Given the description of an element on the screen output the (x, y) to click on. 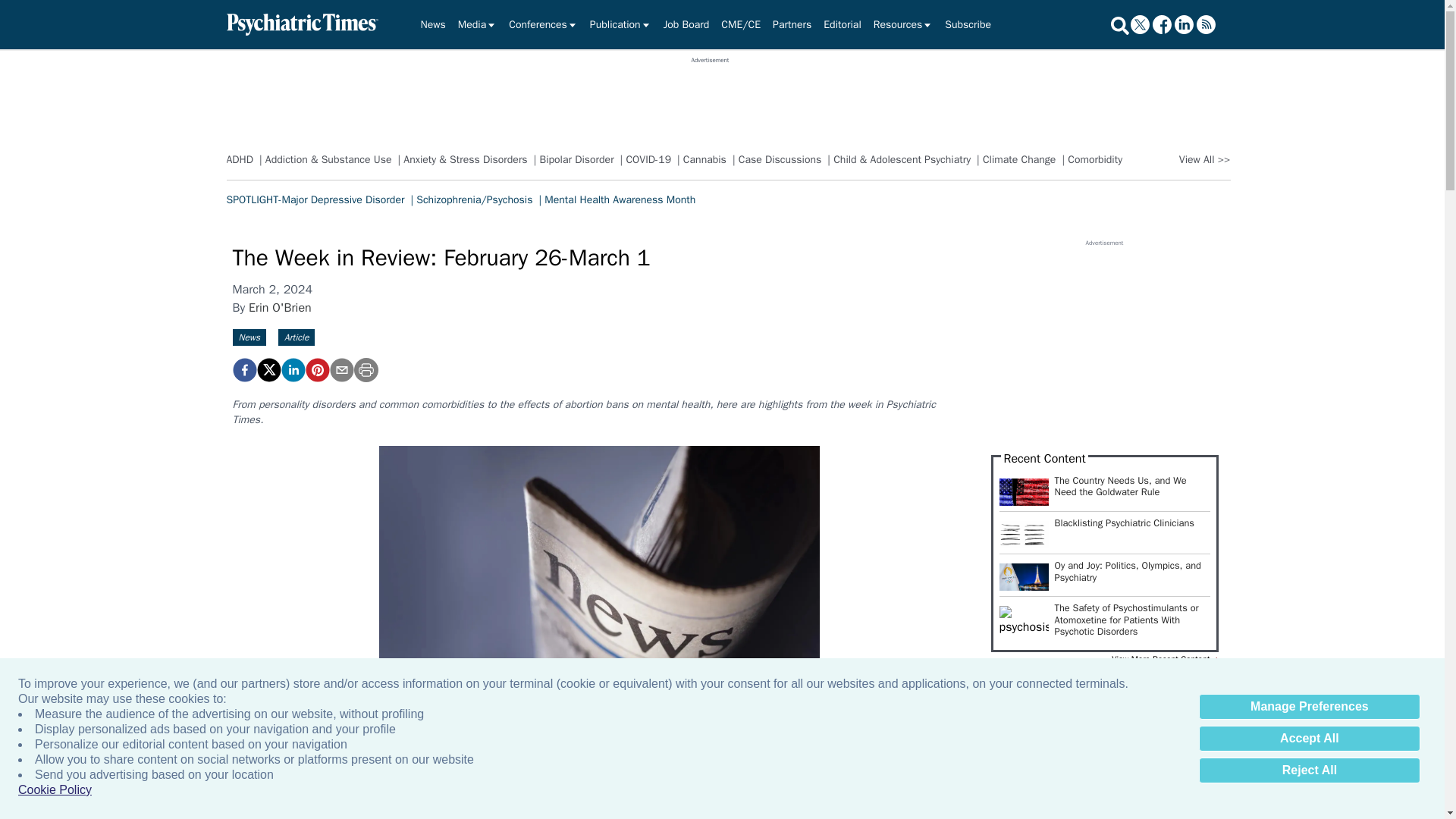
Job Board (686, 23)
Subscribe (967, 23)
Editorial (842, 23)
Cookie Policy (54, 789)
Reject All (1309, 769)
Accept All (1309, 738)
The Week in Review: February 26-March 1 (316, 369)
Manage Preferences (1309, 706)
Partners (791, 23)
News (432, 23)
